Given the description of an element on the screen output the (x, y) to click on. 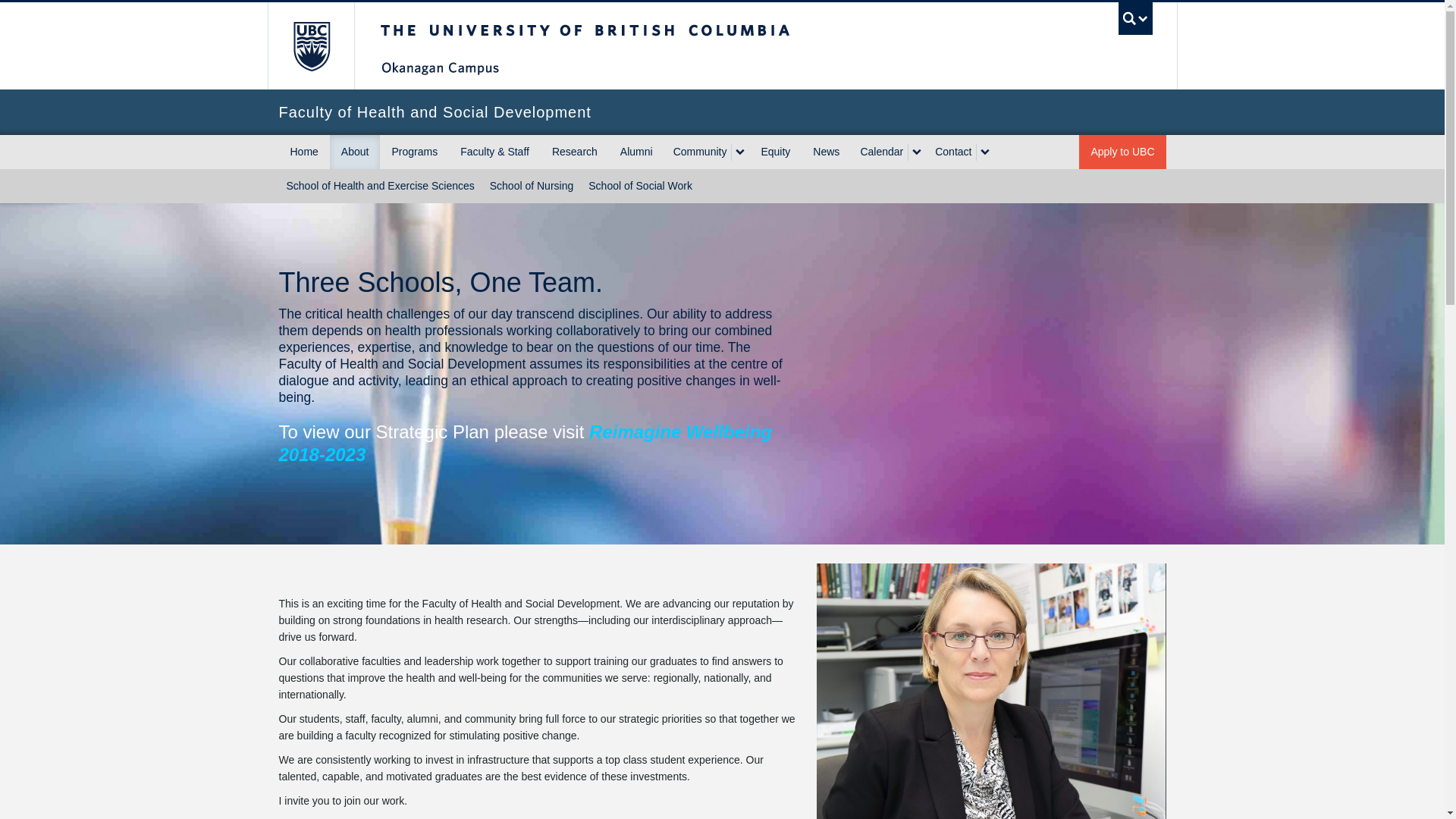
School of Social Work (640, 185)
Community (697, 151)
Home (304, 151)
Apply to UBC (1122, 151)
School of Health and Exercise Sciences (380, 185)
Research (574, 151)
Programs (414, 151)
The University of British Columbia (635, 45)
Reimagine Wellbeing 2018-2023 (525, 443)
UBC Search (1135, 18)
Faculty of Health and Social Development (722, 112)
The University of British Columbia (309, 45)
Calendar (879, 151)
Home (290, 221)
Alumni (635, 151)
